Given the description of an element on the screen output the (x, y) to click on. 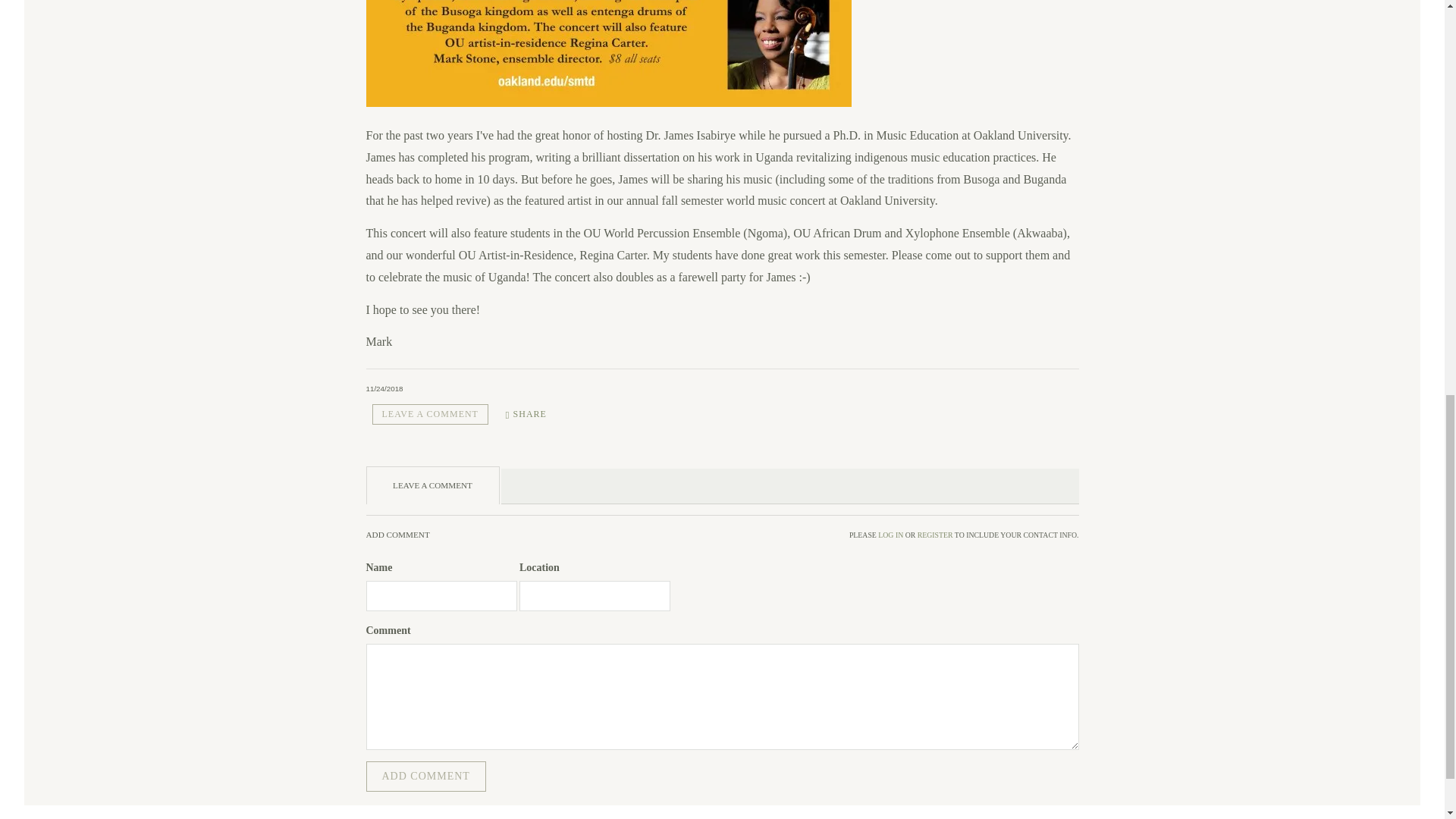
November 24, 2018 19:00 (384, 388)
LEAVE A COMMENT (429, 414)
SHARE (526, 414)
Leave a comment (429, 414)
